Given the description of an element on the screen output the (x, y) to click on. 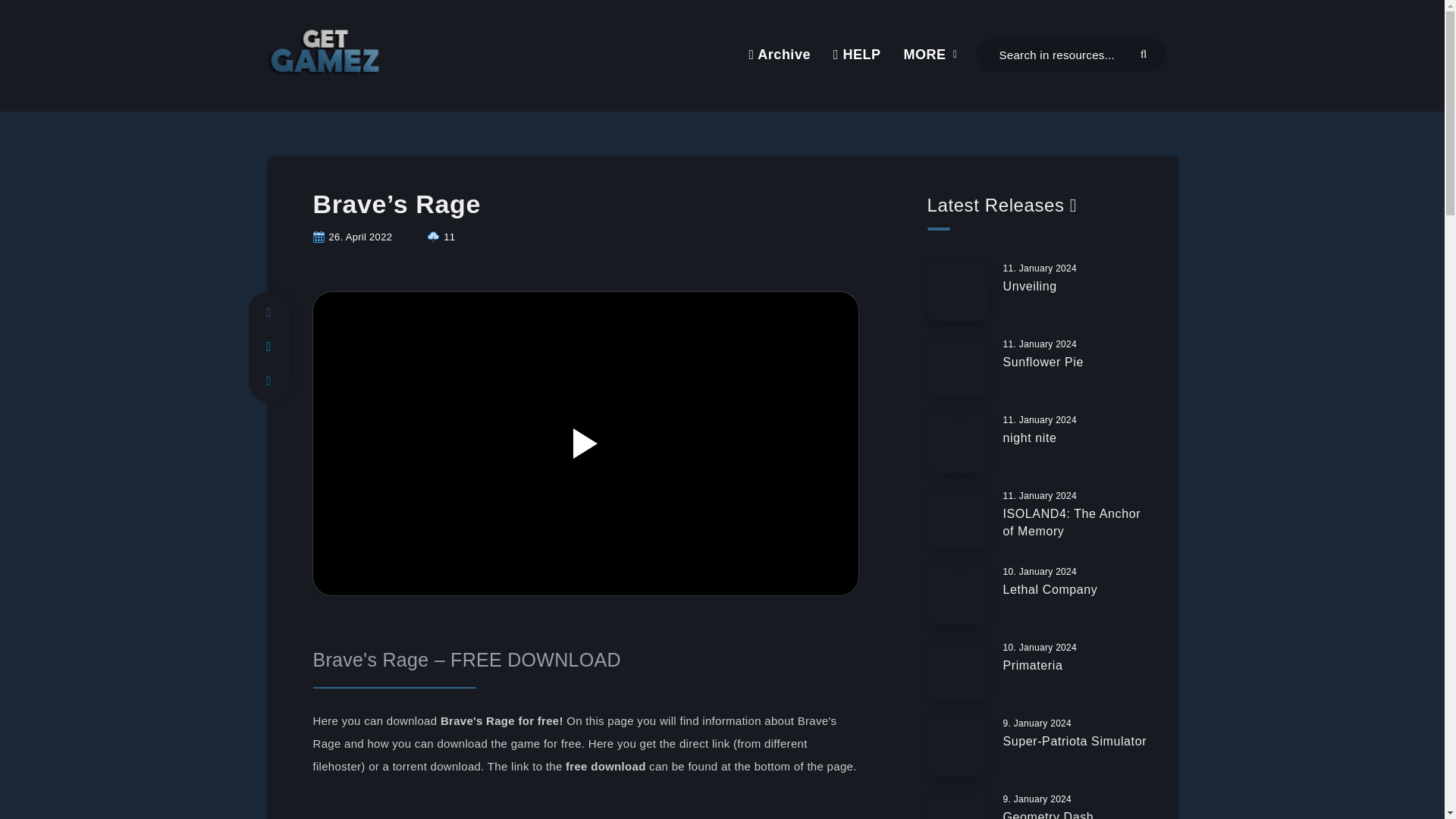
HELP (856, 54)
night nite (1030, 439)
Lethal Company (1050, 591)
Sunflower Pie (1043, 363)
Archive (778, 54)
Primateria (1032, 667)
Super-Patriota Simulator (1075, 742)
Unveiling (1030, 288)
Downloads (441, 236)
Archive (778, 54)
